Given the description of an element on the screen output the (x, y) to click on. 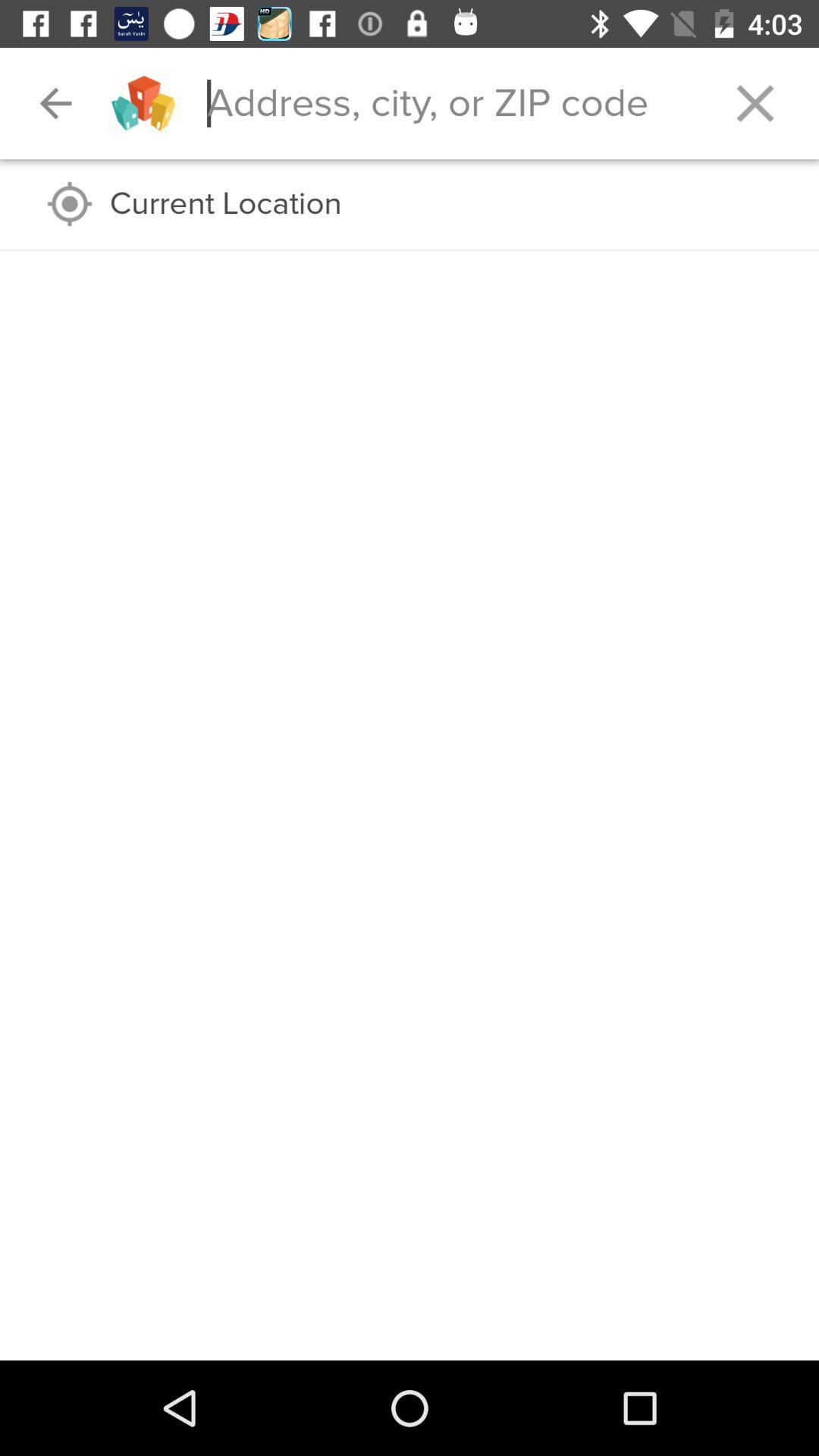
launch item below current location icon (409, 250)
